Given the description of an element on the screen output the (x, y) to click on. 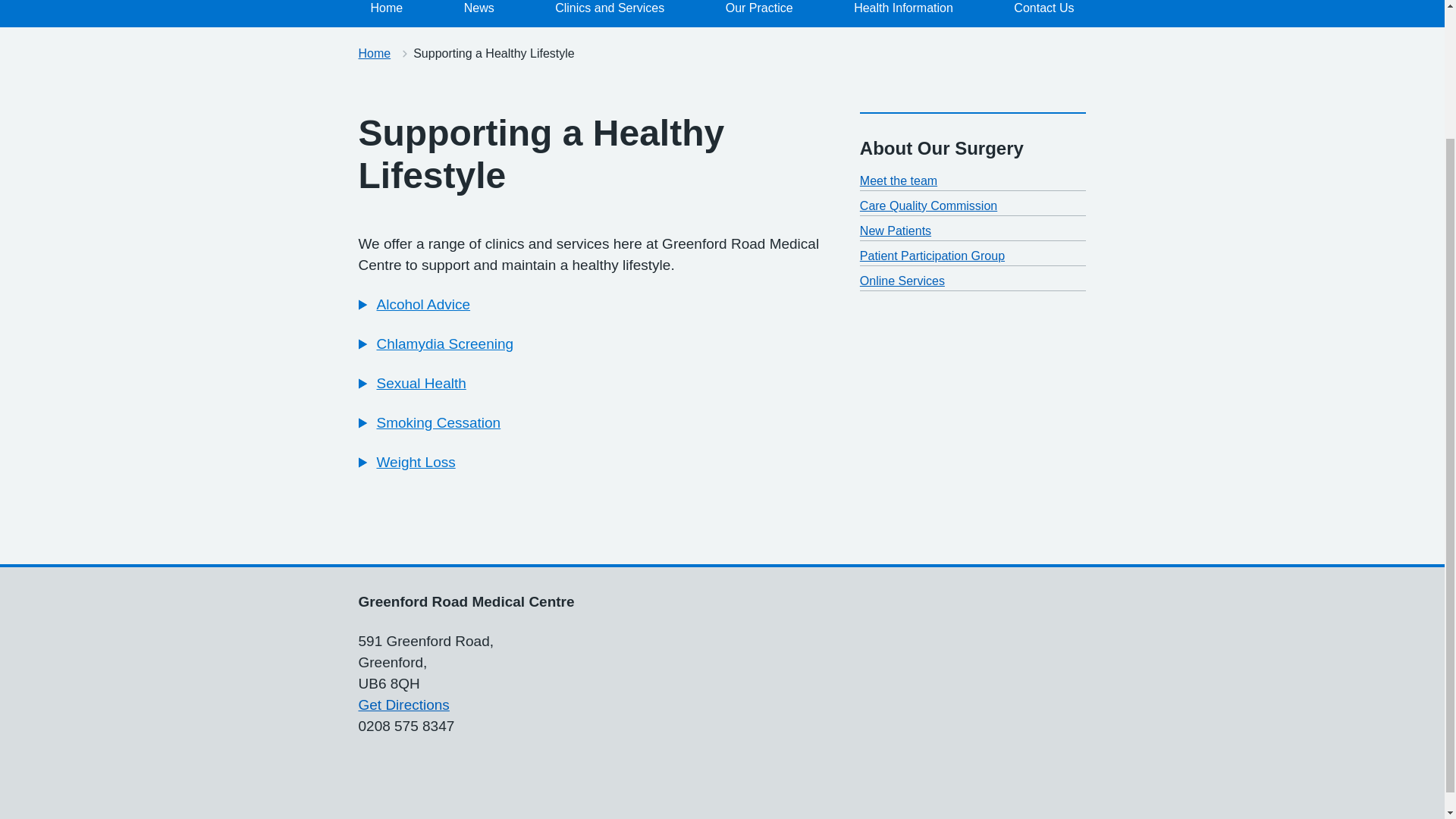
Our Practice (759, 13)
Meet the team (898, 180)
Home (386, 13)
Contact Us (1043, 13)
Care Quality Commission (928, 205)
Health Information (903, 13)
Online Services (902, 280)
Get Directions (403, 704)
New Patients (895, 230)
News (478, 13)
Clinics and Services (610, 13)
Patient Participation Group (932, 255)
Home (374, 52)
